Given the description of an element on the screen output the (x, y) to click on. 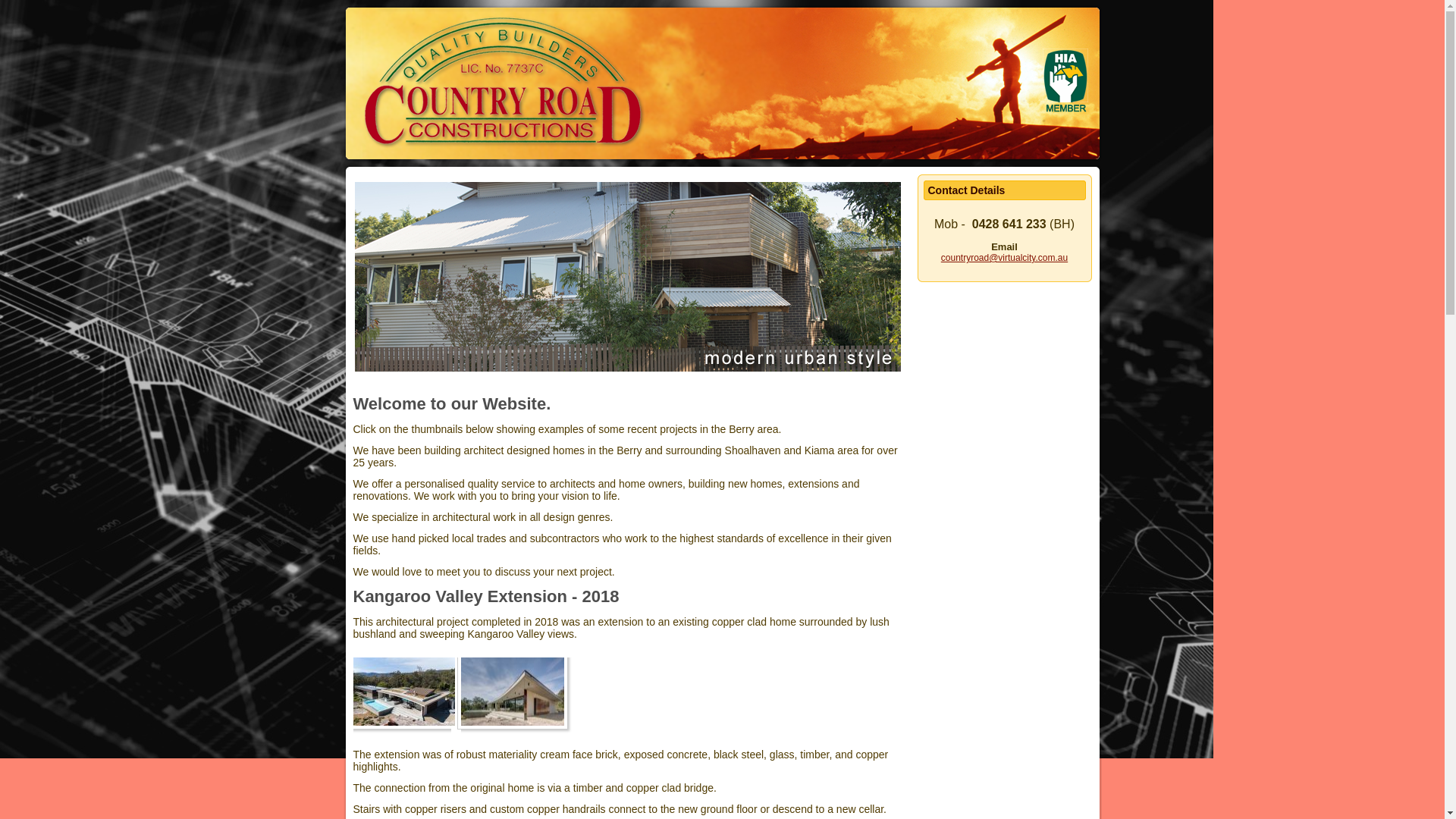
countryroad@virtualcity.com.au Element type: text (1004, 257)
